Given the description of an element on the screen output the (x, y) to click on. 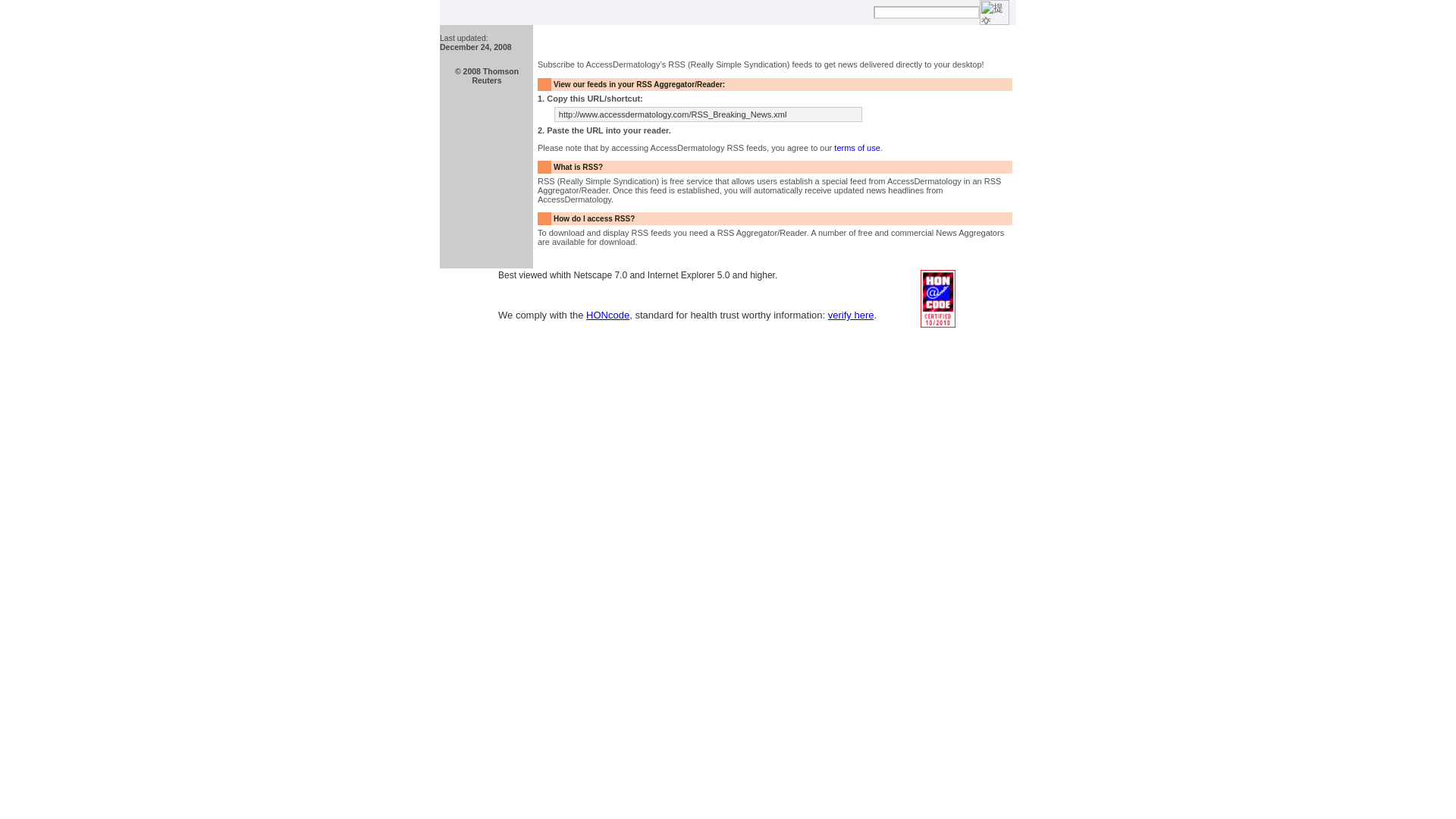
HONcode (607, 315)
verify here (851, 315)
terms of use (857, 147)
